Given the description of an element on the screen output the (x, y) to click on. 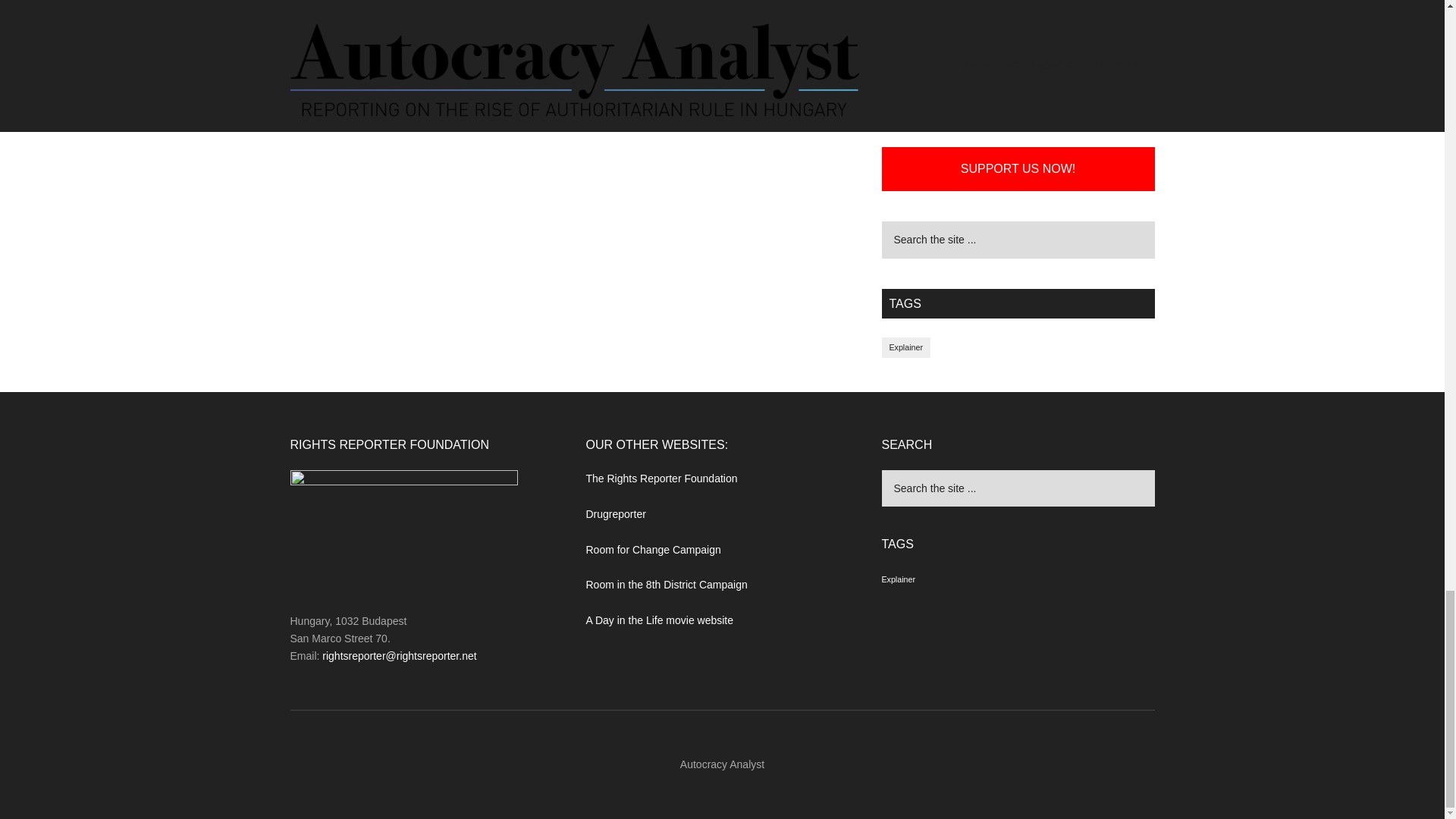
Explainer (905, 347)
Subscribe (1017, 5)
Subscribe (1017, 5)
Drugreporter (615, 513)
Autocracy Analyst -  (721, 764)
The Rights Reporter Foundation (660, 478)
SUPPORT US NOW! (1017, 168)
